Given the description of an element on the screen output the (x, y) to click on. 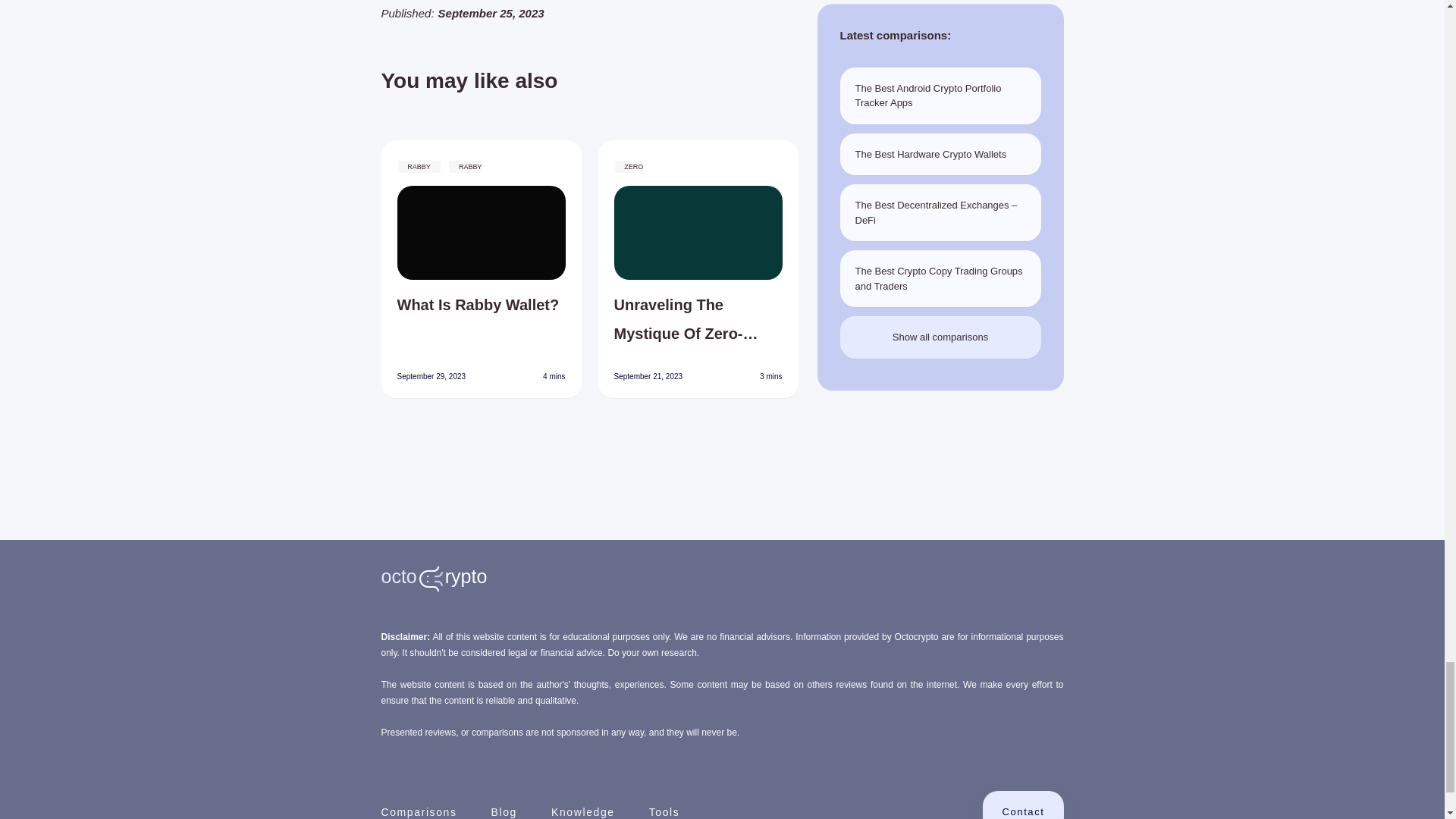
ZERO KNOWLEDGE (641, 175)
RABBY (419, 166)
Unraveling The Mystique Of Zero-Knowledge Rollups (698, 319)
What Is Rabby Wallet? (481, 319)
RABBY WALLET (439, 175)
